Given the description of an element on the screen output the (x, y) to click on. 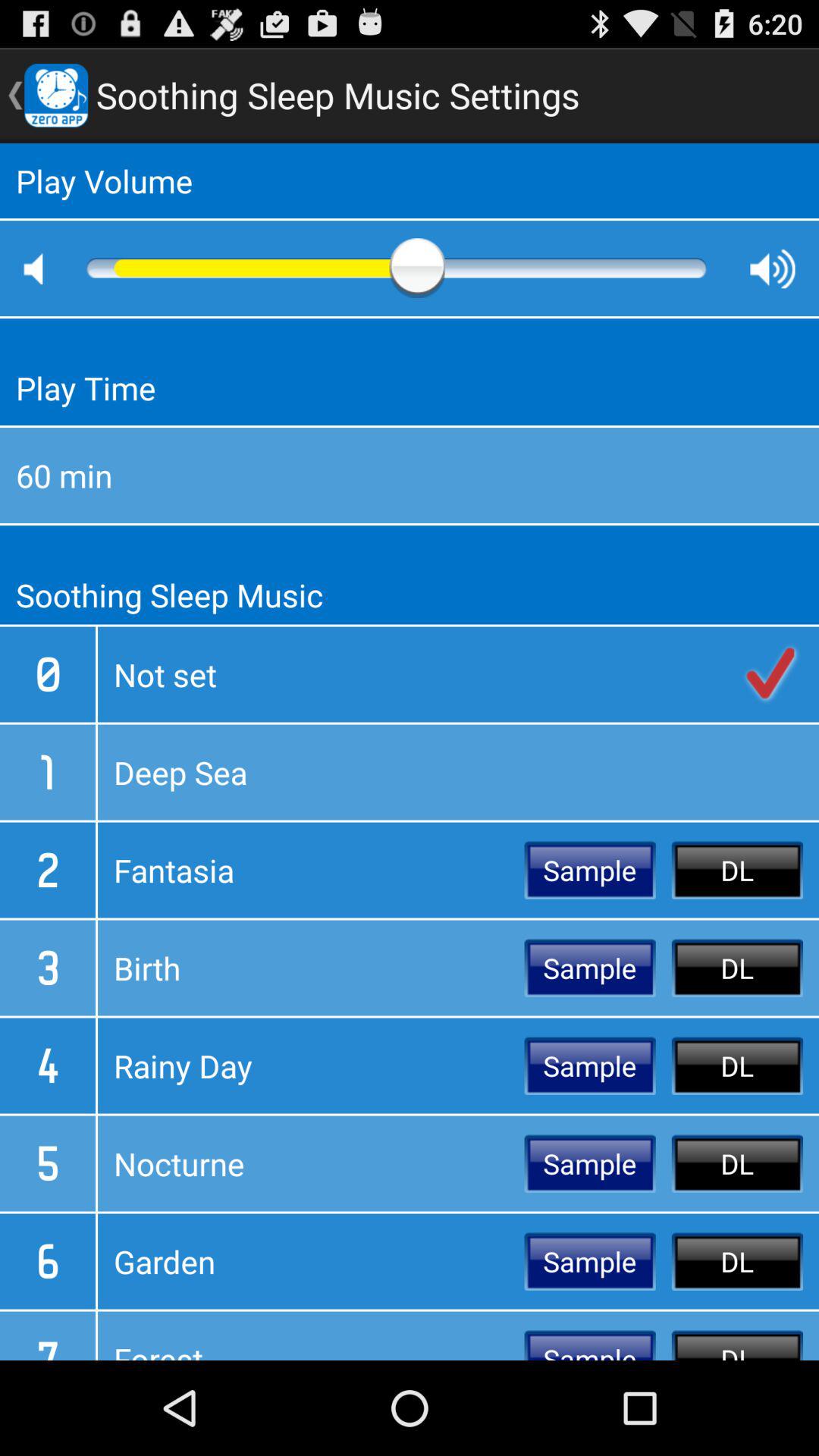
turn off 0 item (47, 673)
